Given the description of an element on the screen output the (x, y) to click on. 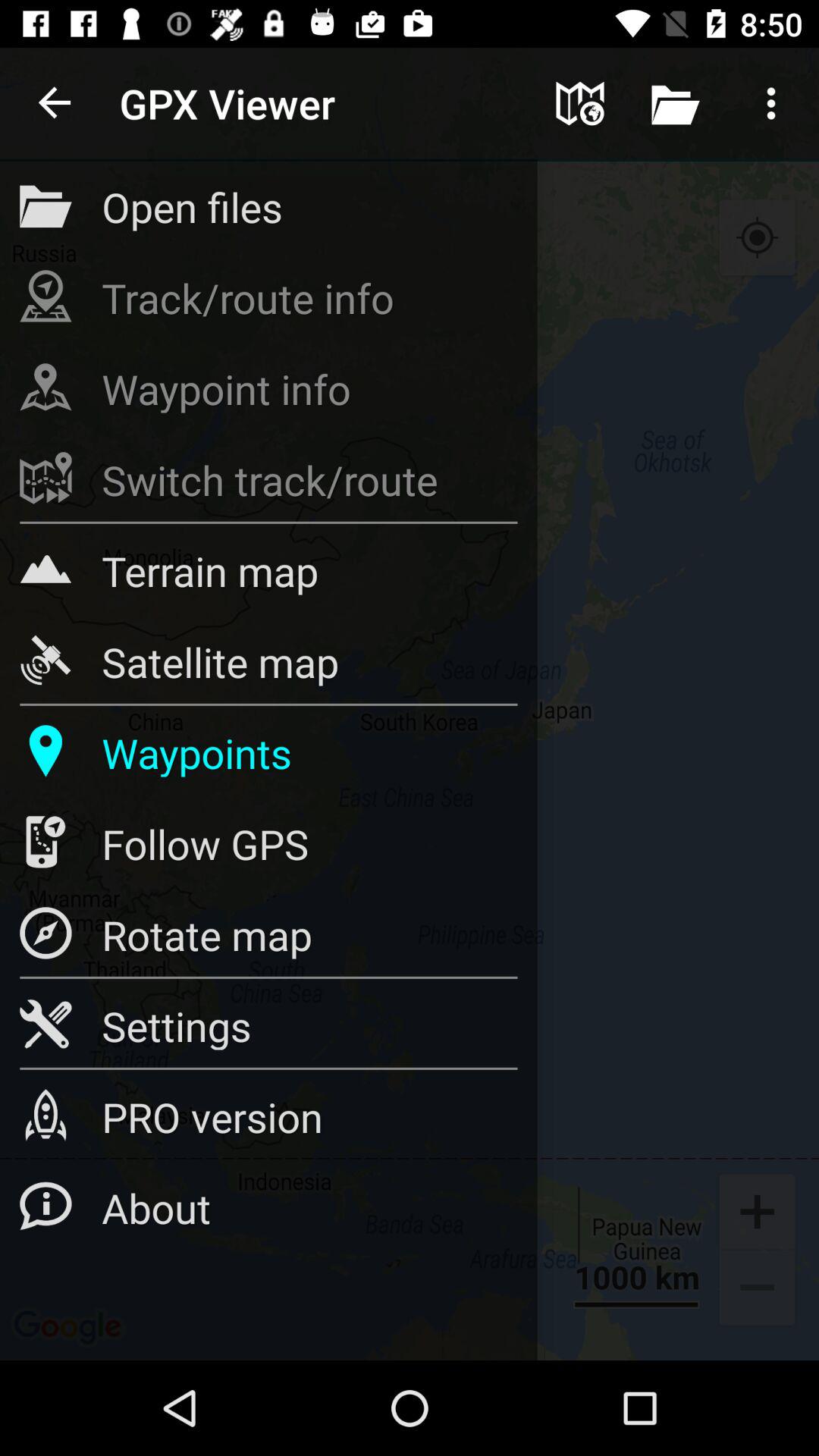
click on the rotate map icon (45, 933)
